Given the description of an element on the screen output the (x, y) to click on. 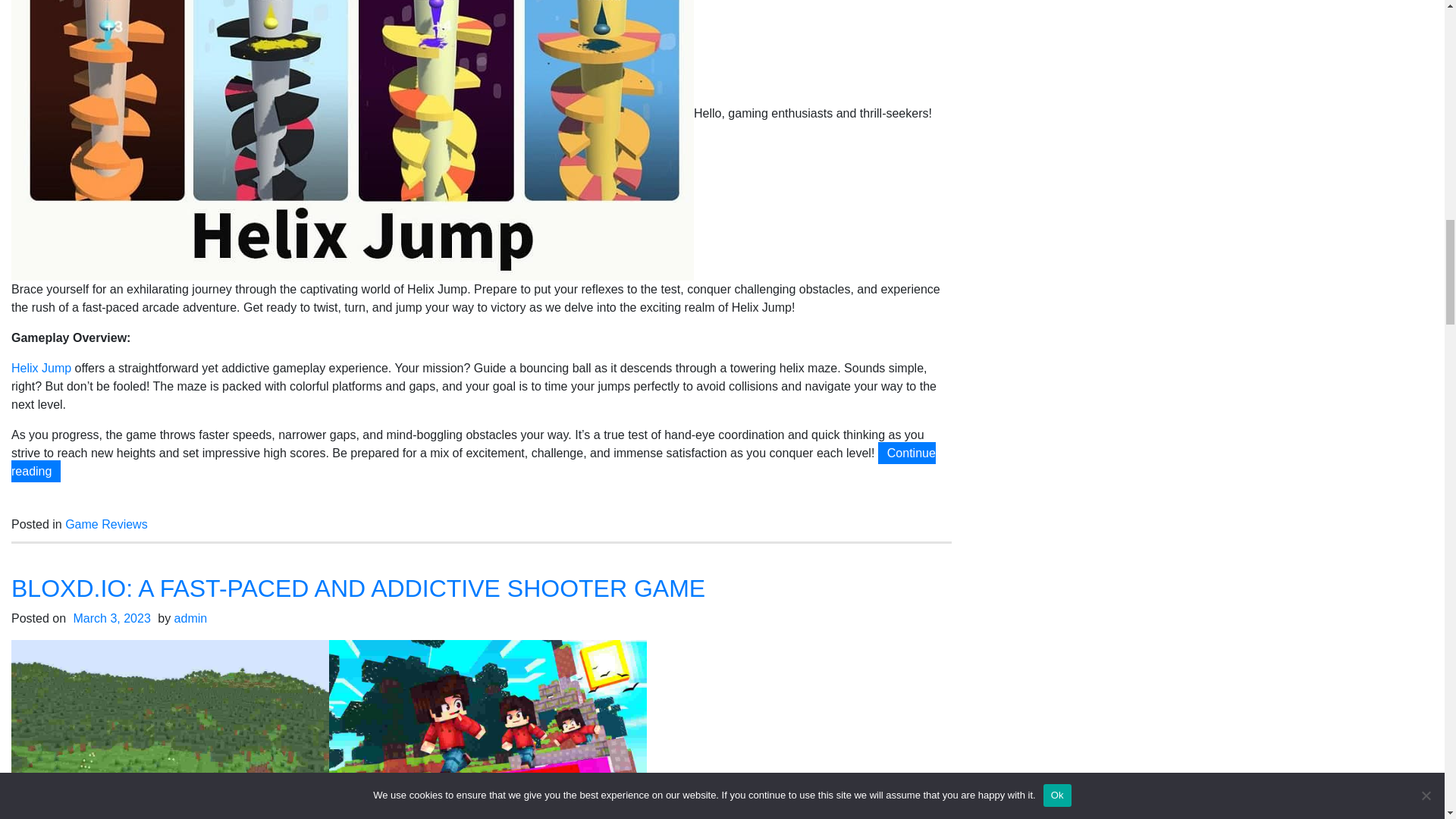
BLOXD.IO: A FAST-PACED AND ADDICTIVE SHOOTER GAME (357, 587)
Helix Jump (41, 367)
Game Reviews (106, 523)
admin (191, 617)
March 3, 2023 (111, 617)
